Given the description of an element on the screen output the (x, y) to click on. 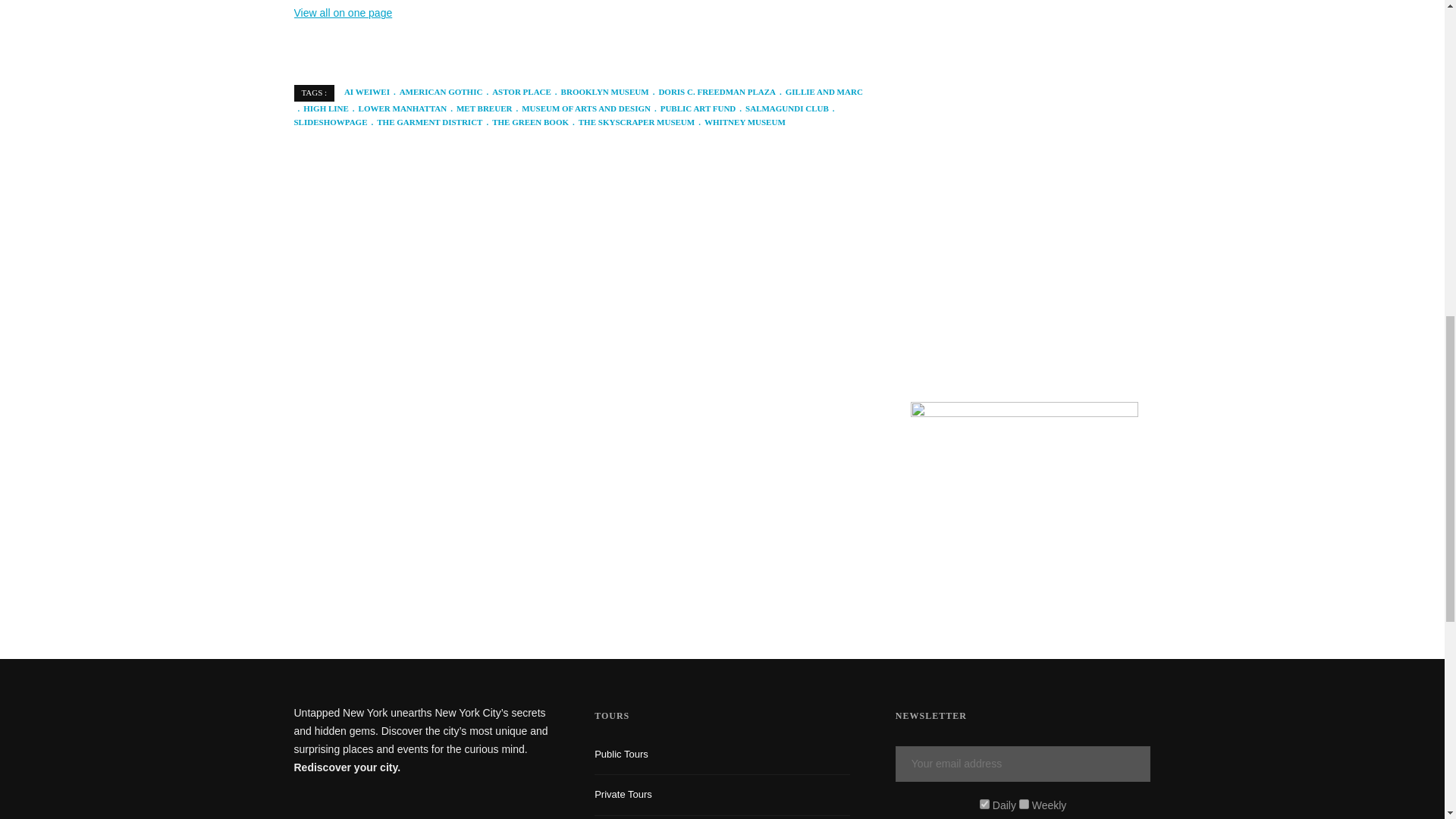
FareHarbor (1342, 64)
7cff6a70fd (1024, 804)
e99a09560c (984, 804)
